Given the description of an element on the screen output the (x, y) to click on. 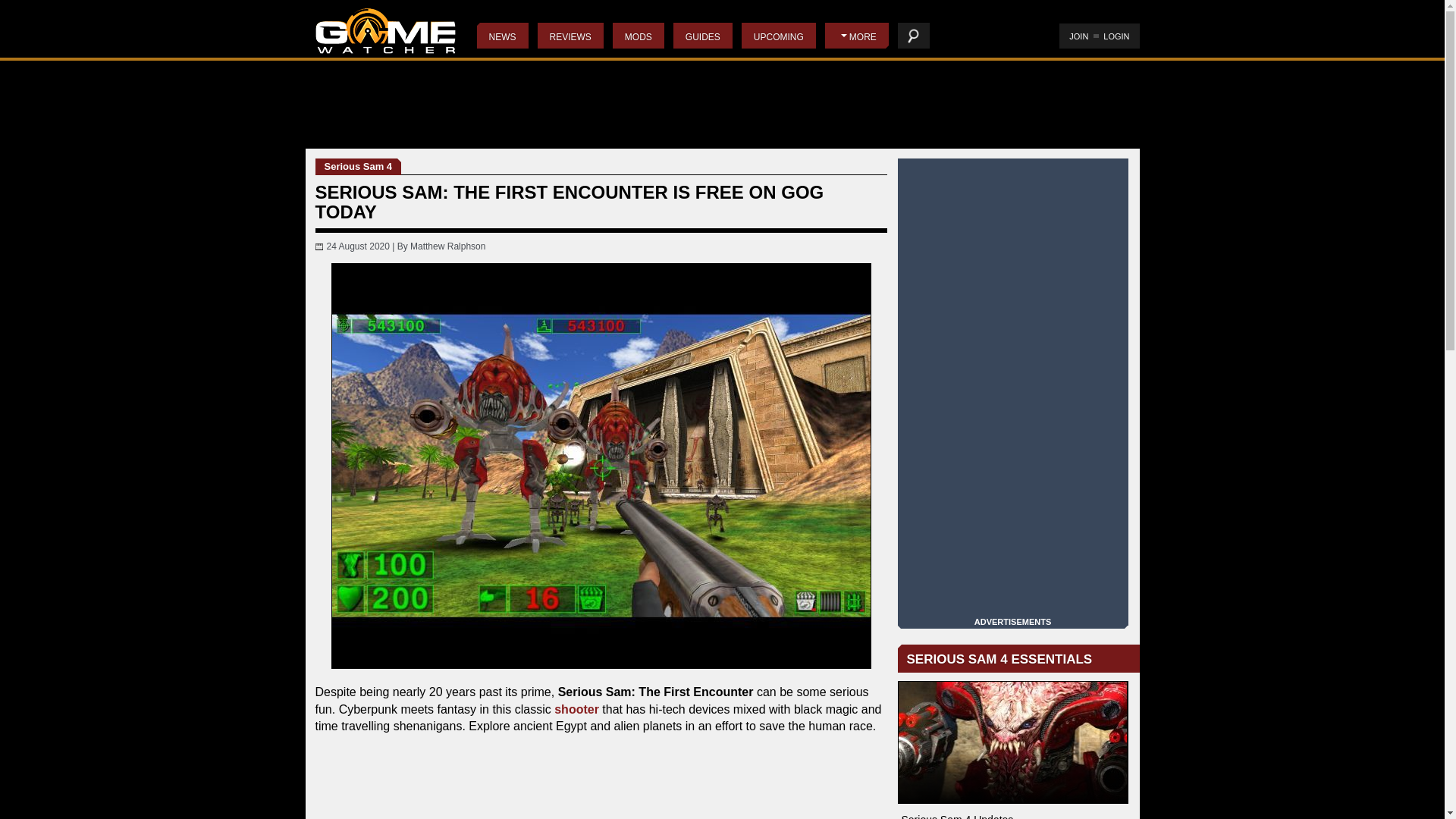
shooter (576, 708)
NEWS (501, 35)
JOIN (1078, 36)
UPCOMING (778, 35)
MORE (856, 35)
Matthew Ralphson (447, 245)
Serious Sam 4 (358, 166)
LOGIN (1116, 36)
REVIEWS (569, 35)
GUIDES (702, 35)
Serious Sam 4 (1013, 741)
MODS (637, 35)
